Given the description of an element on the screen output the (x, y) to click on. 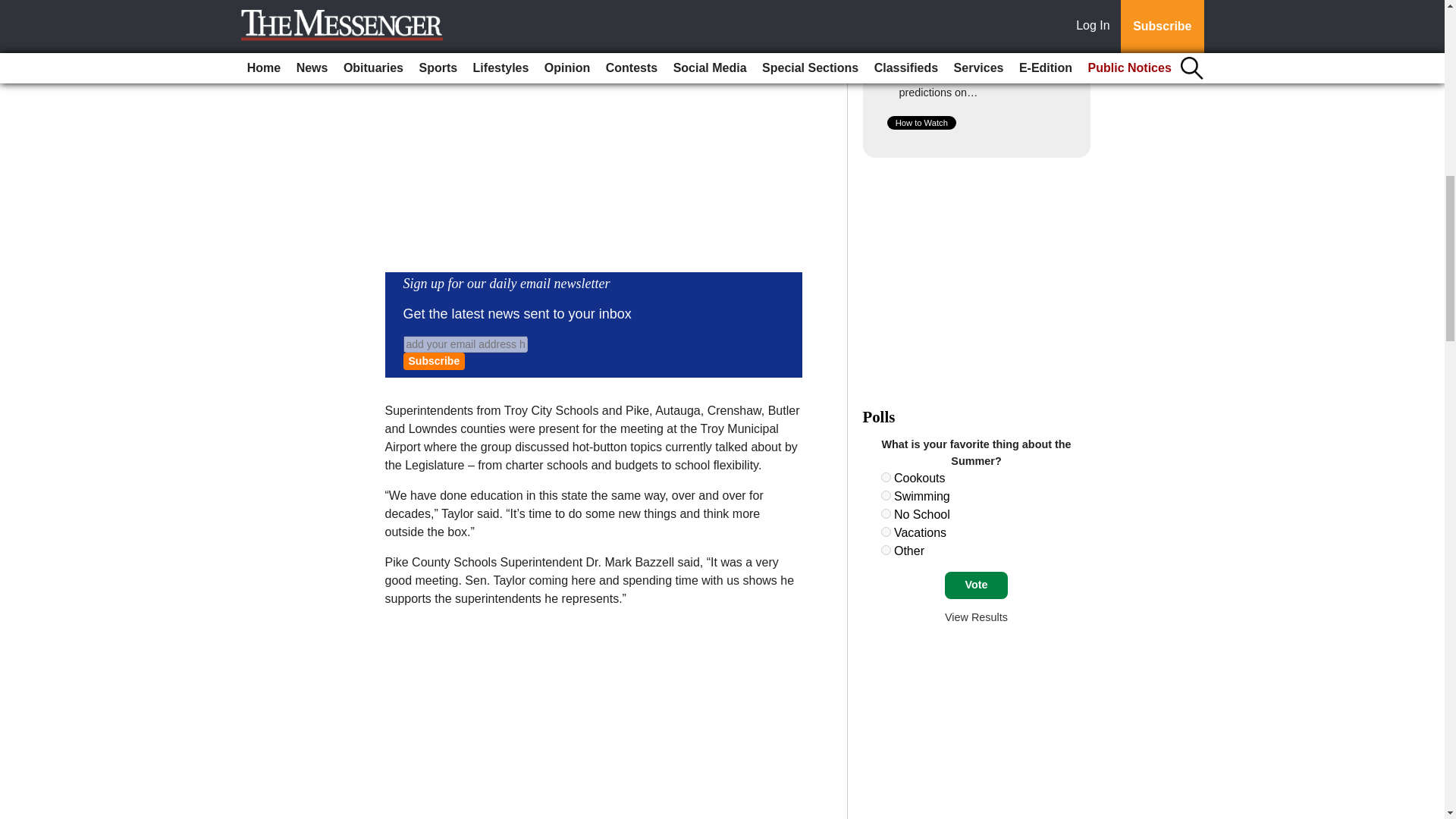
View Results Of This Poll (975, 616)
7276 (885, 513)
7278 (885, 550)
7274 (885, 477)
   Vote    (975, 584)
Subscribe (434, 361)
7277 (885, 532)
7275 (885, 495)
